Given the description of an element on the screen output the (x, y) to click on. 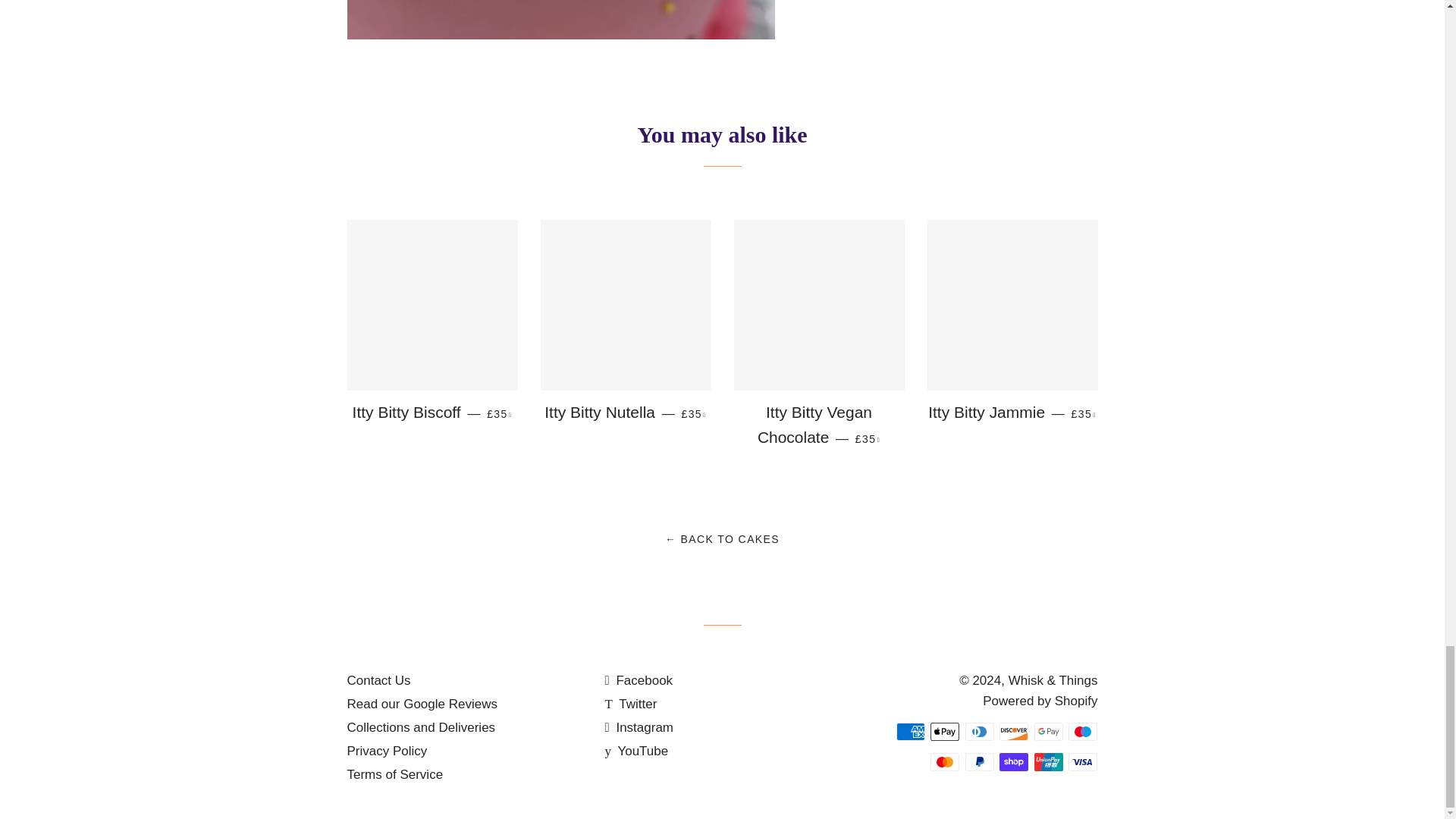
Maestro (1082, 731)
Apple Pay (944, 731)
Mastercard (944, 761)
Union Pay (1047, 761)
Discover (1012, 731)
American Express (910, 731)
PayPal (979, 761)
Visa (1082, 761)
Diners Club (979, 731)
Google Pay (1047, 731)
Shop Pay (1012, 761)
